Given the description of an element on the screen output the (x, y) to click on. 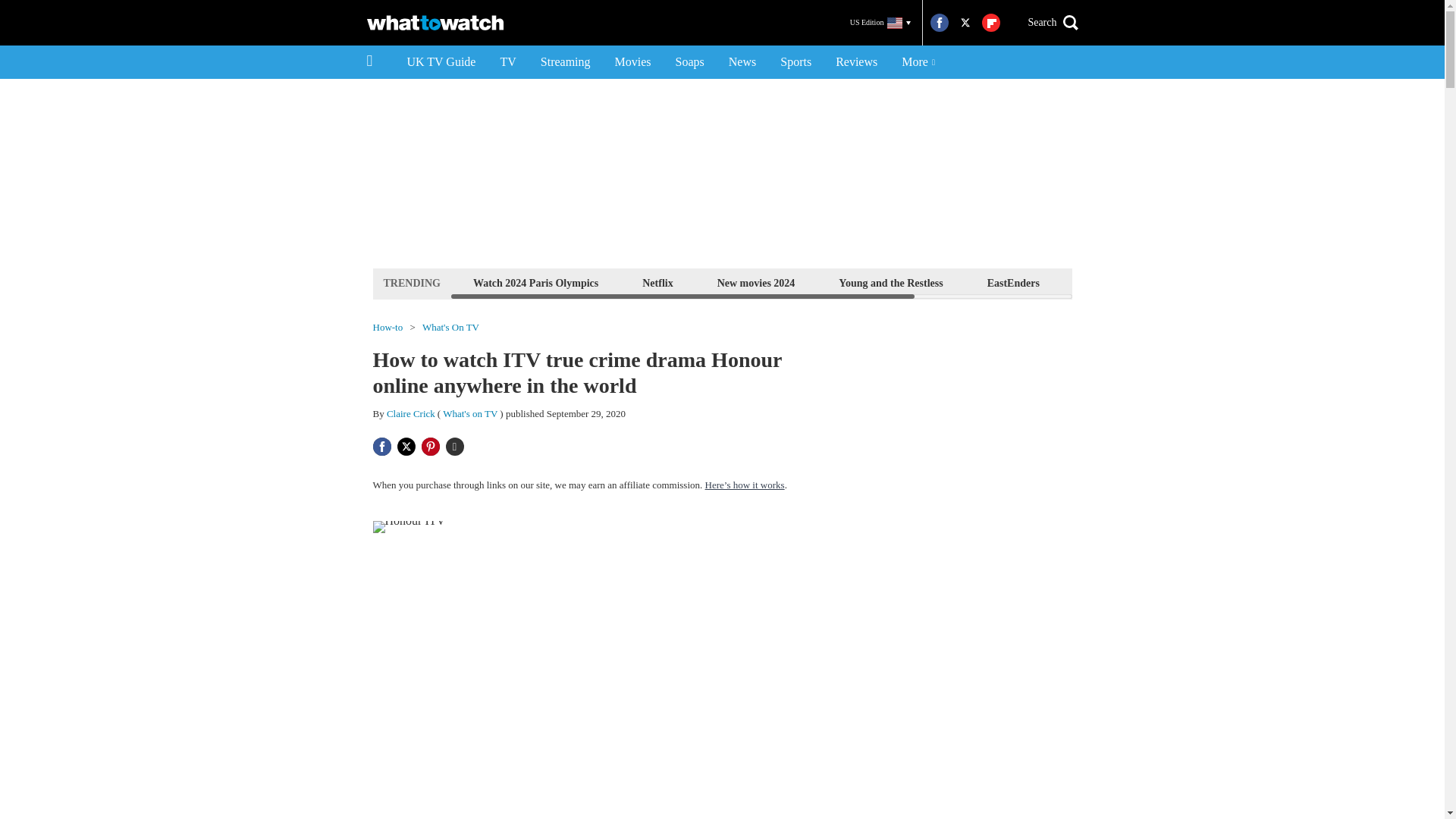
EastEnders (1013, 282)
What's On TV (450, 327)
Claire Crick (411, 413)
News (742, 61)
Sports (796, 61)
Watch 2024 Paris Olympics (535, 282)
Reviews (856, 61)
Soaps (689, 61)
New movies 2024 (755, 282)
Netflix (657, 282)
TV (507, 61)
Young and the Restless (889, 282)
How-to (387, 327)
Coronation Street (1220, 282)
US Edition (880, 22)
